Given the description of an element on the screen output the (x, y) to click on. 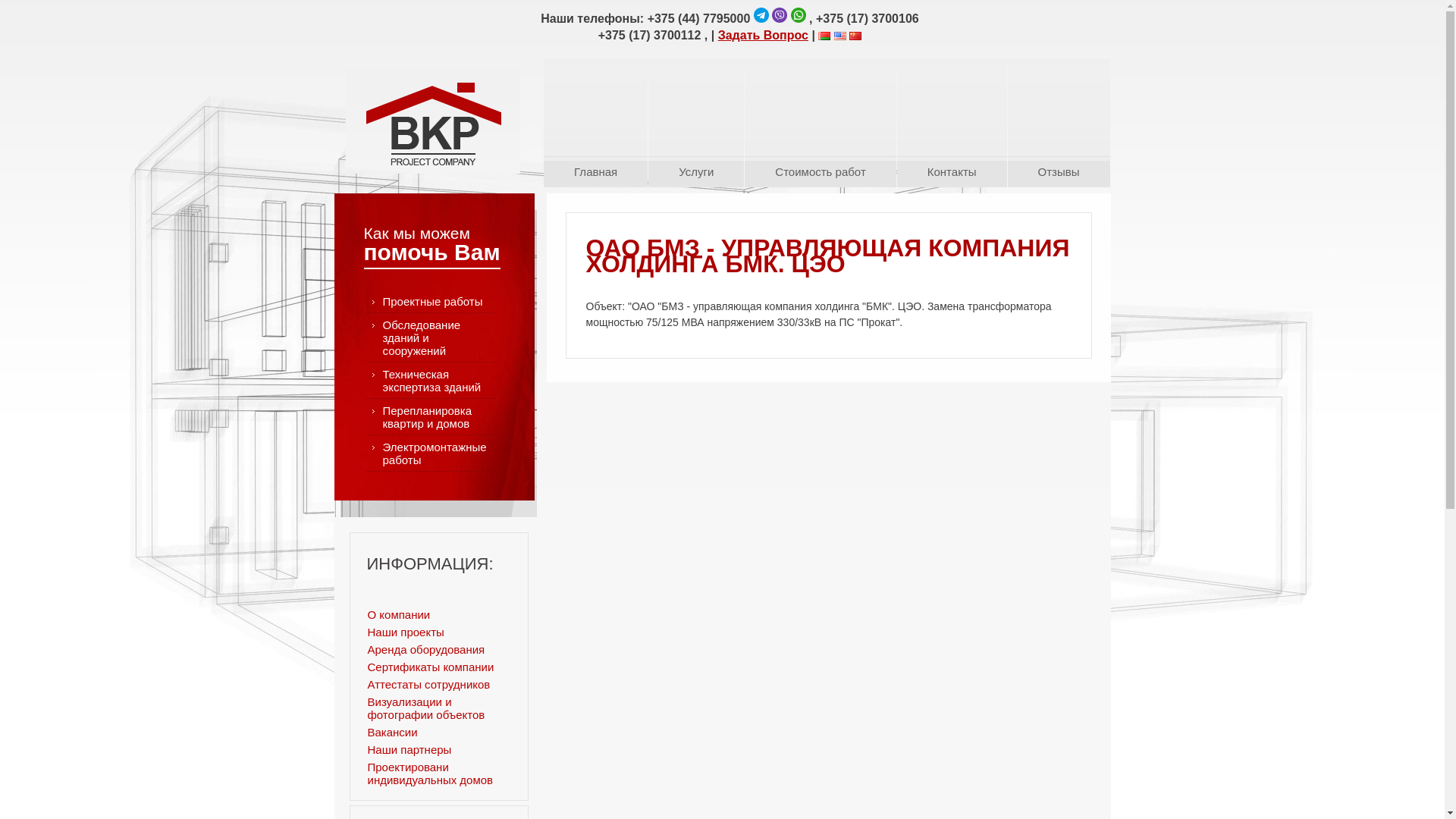
+375 (44) 7795000 Element type: text (698, 18)
STR Element type: hover (432, 122)
+375 (17) 3700112 Element type: text (649, 34)
English Element type: text (840, 35)
?? Element type: text (855, 35)
STR Element type: hover (432, 120)
+375 (17) 3700106 Element type: text (867, 18)
